Given the description of an element on the screen output the (x, y) to click on. 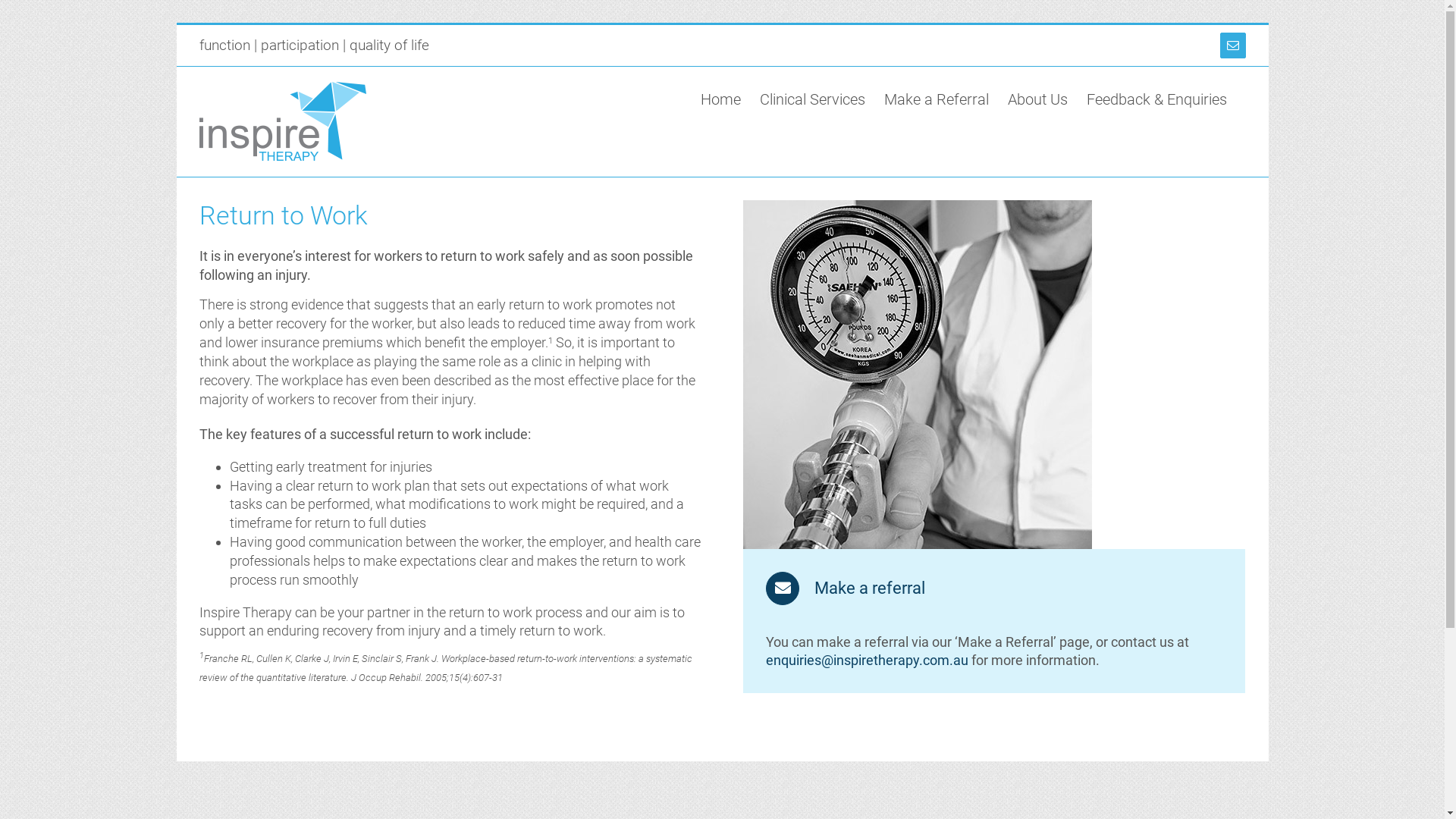
Email Element type: text (1232, 45)
enquiries@inspiretherapy.com.au Element type: text (866, 660)
Clinical Services Element type: text (812, 98)
inspire-therapy-return-to-work-service Element type: hover (917, 374)
Feedback & Enquiries Element type: text (1155, 98)
Home Element type: text (720, 98)
Make a referral Element type: text (845, 588)
About Us Element type: text (1036, 98)
Make a Referral Element type: text (936, 98)
